Given the description of an element on the screen output the (x, y) to click on. 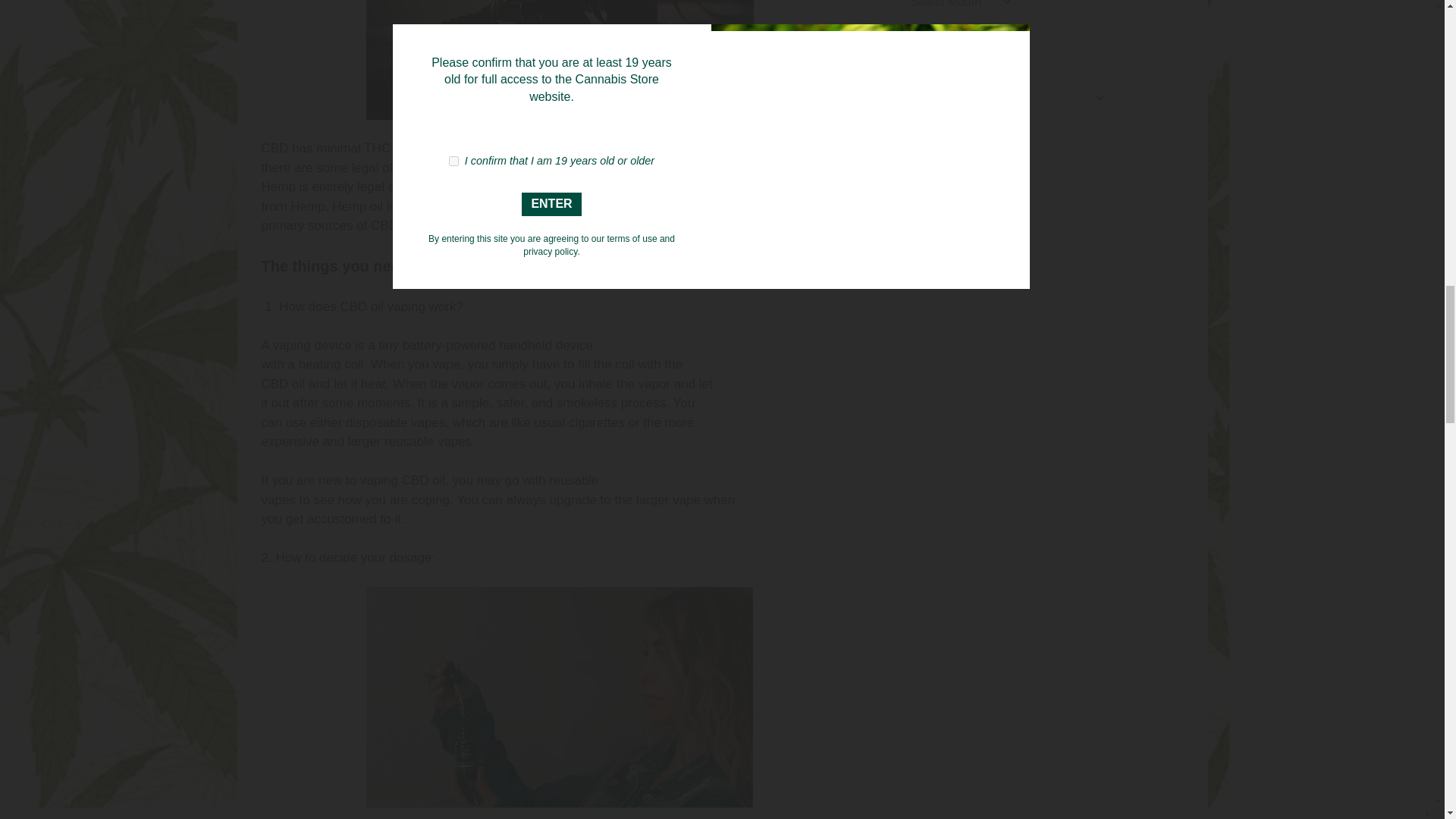
Log in (942, 194)
